Given the description of an element on the screen output the (x, y) to click on. 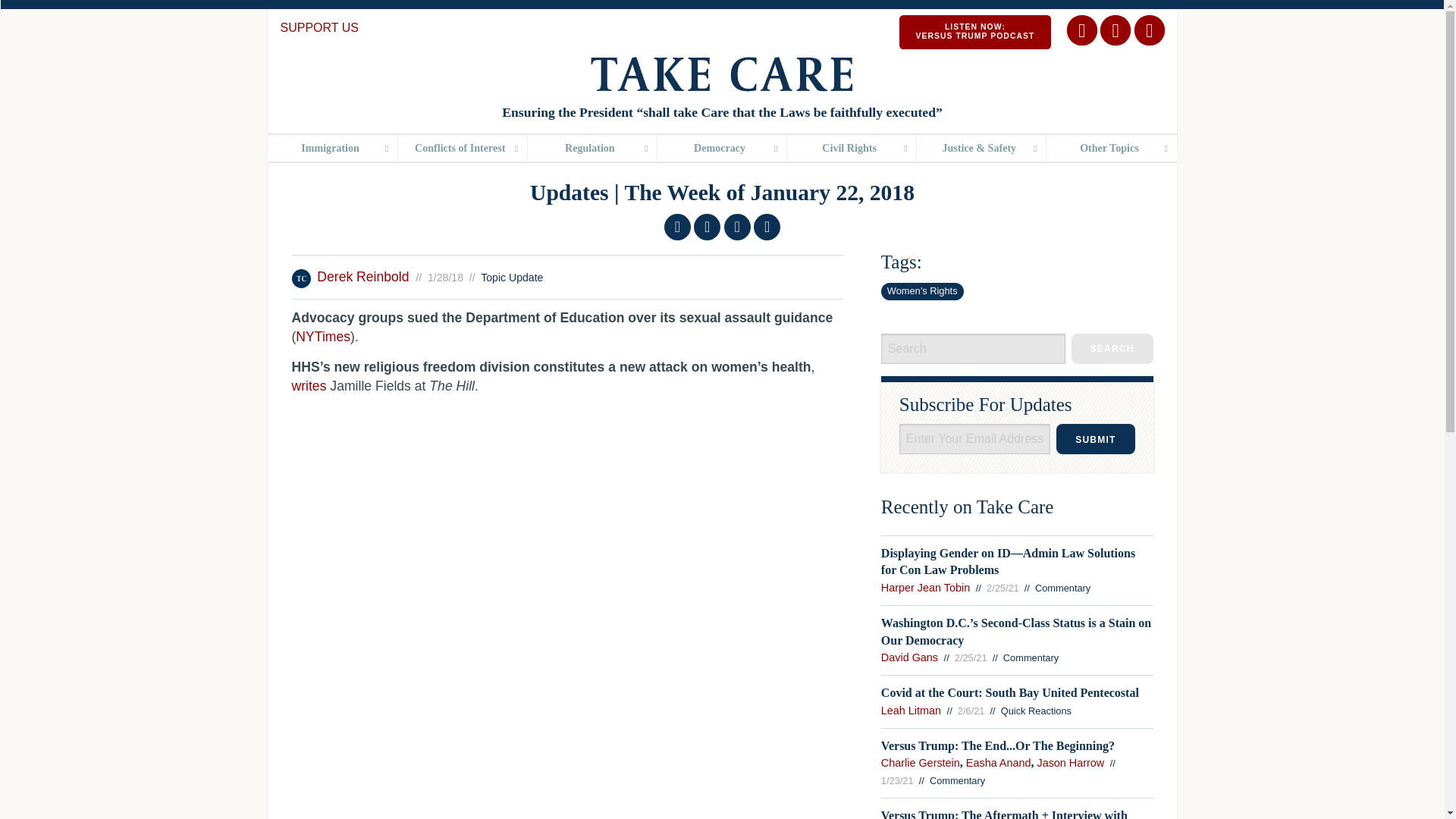
SUPPORT US (319, 27)
Immigration (975, 32)
Civil Rights (332, 148)
Regulation (851, 148)
Conflicts of Interest (591, 148)
search (462, 148)
Democracy (1112, 348)
